Given the description of an element on the screen output the (x, y) to click on. 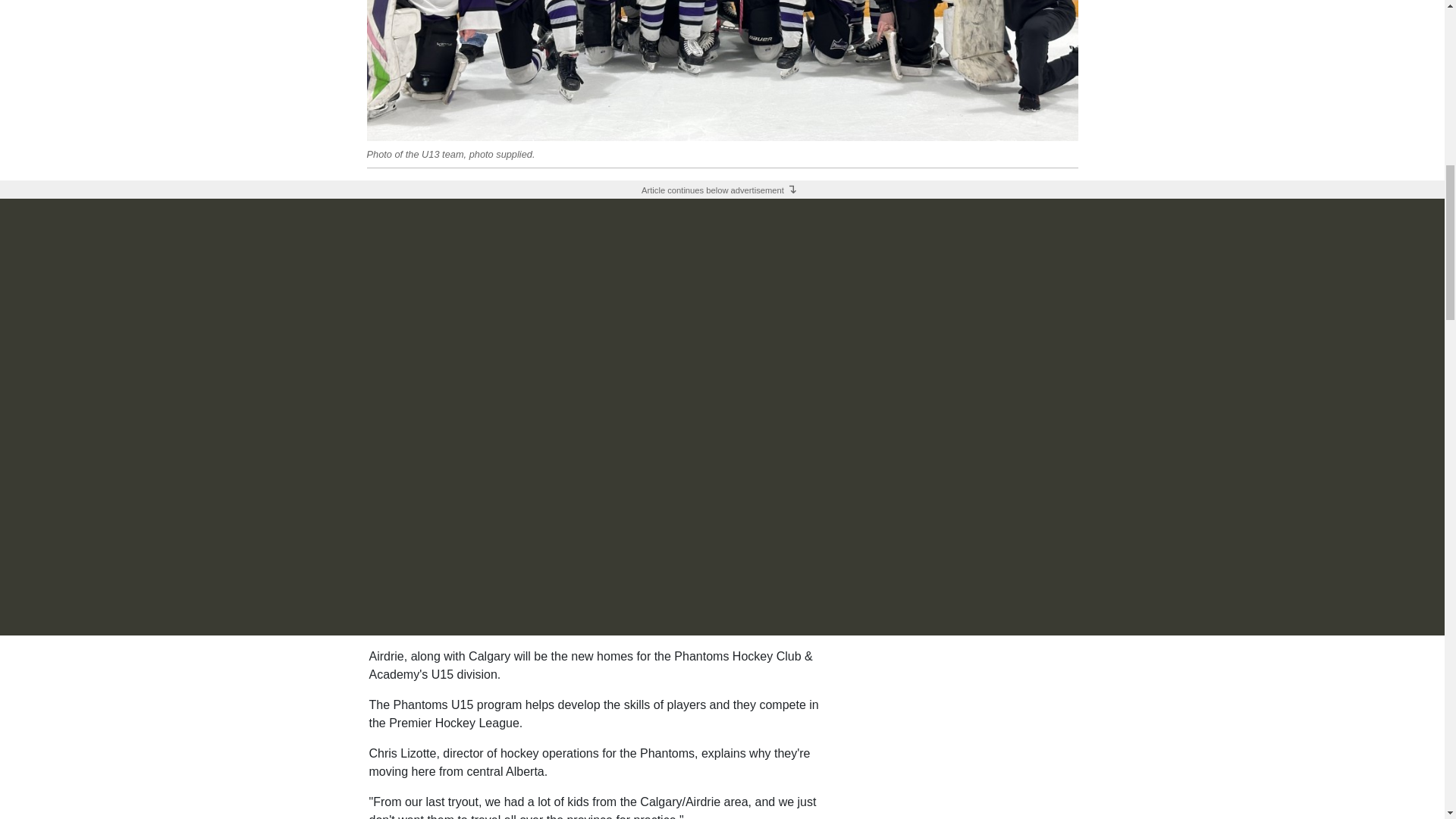
3rd party ad content (721, 26)
3rd party ad content (961, 733)
